Given the description of an element on the screen output the (x, y) to click on. 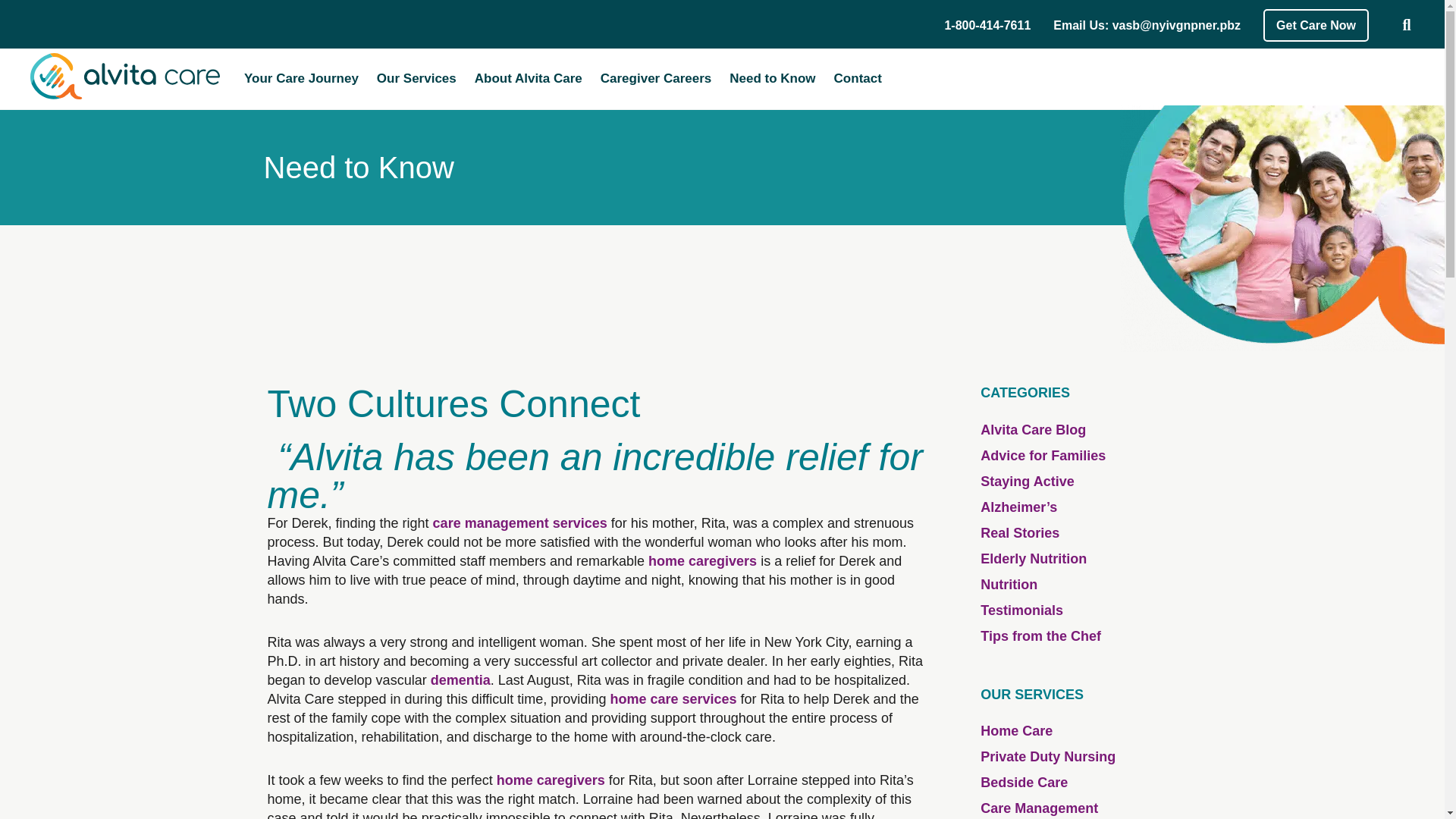
1-800-414-7611 (986, 24)
Need to Know (772, 78)
Your Care Journey (301, 78)
Contact (858, 78)
Get Care Now (1315, 25)
Our Services (416, 78)
About Alvita Care (528, 78)
Caregiver Careers (655, 78)
